Given the description of an element on the screen output the (x, y) to click on. 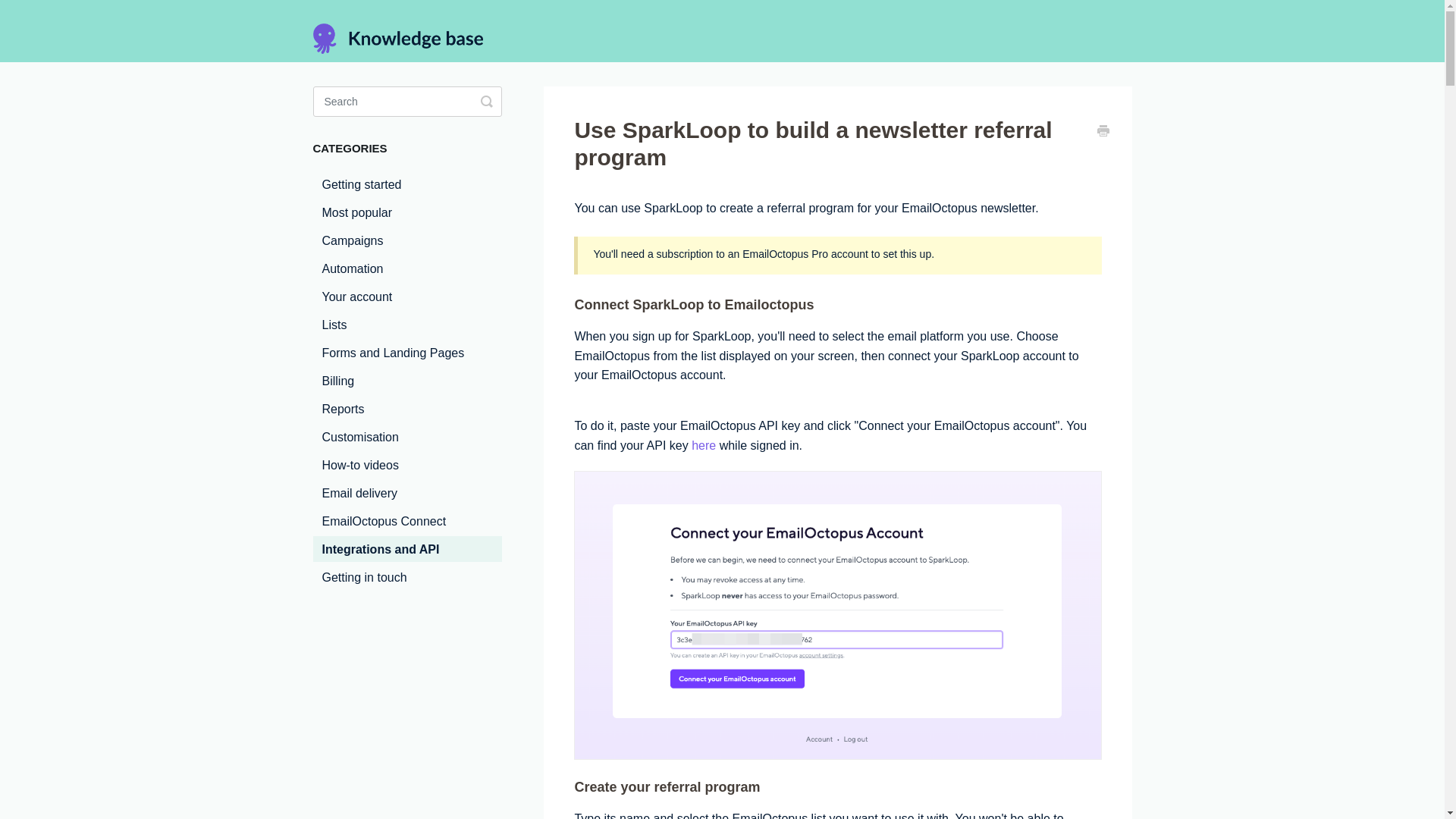
Getting started (361, 184)
Lists (334, 324)
Email delivery (359, 492)
here (703, 445)
Automation (352, 268)
Your account (357, 296)
Forms and Landing Pages (393, 352)
Billing (337, 380)
Customisation (360, 436)
Integrations and API (380, 548)
Getting in touch (363, 576)
Reports (342, 408)
Campaigns (352, 240)
Most popular (357, 212)
EmailOctopus Connect (383, 520)
